Given the description of an element on the screen output the (x, y) to click on. 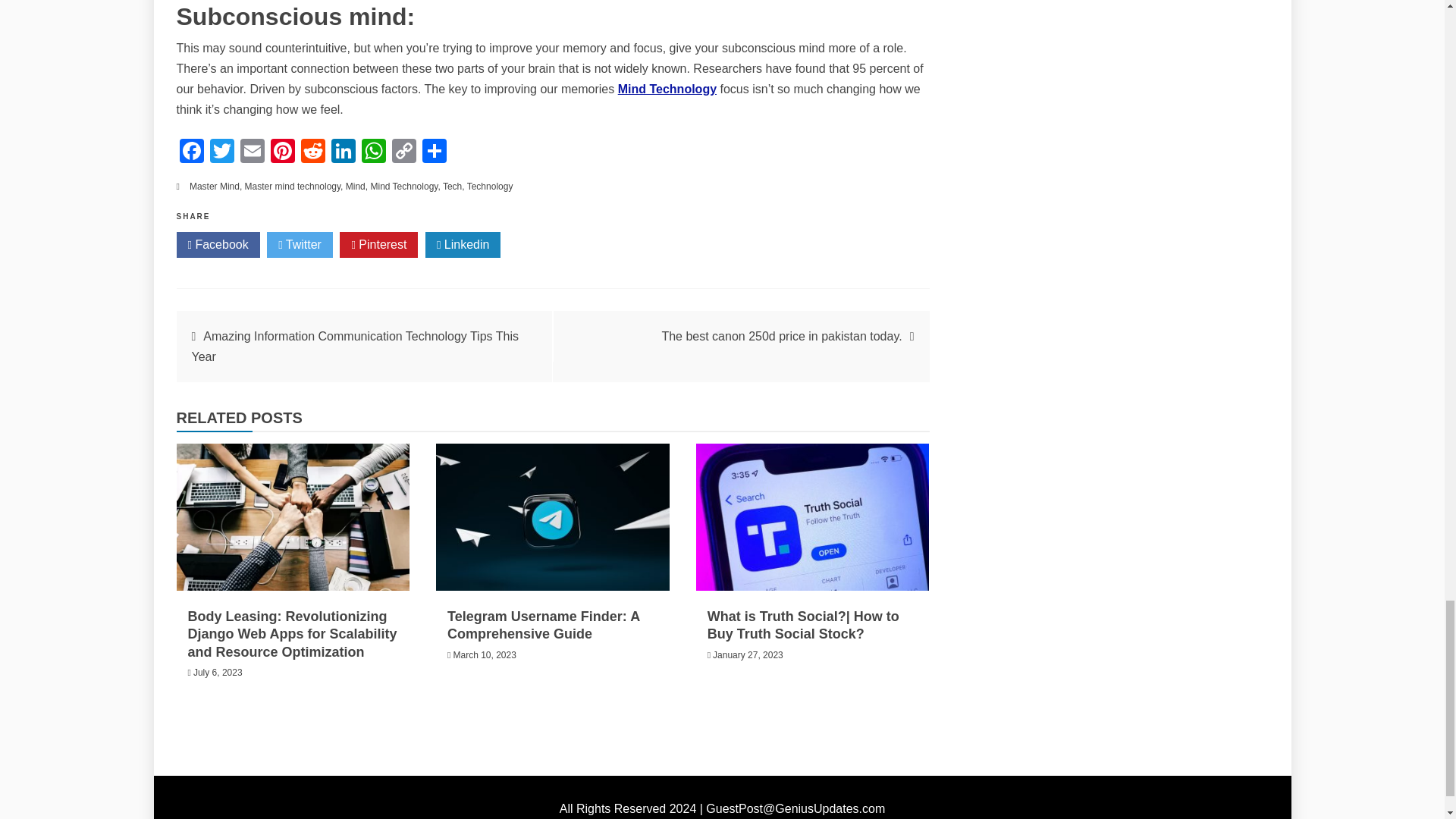
Mind Technology (666, 88)
Facebook (191, 152)
